Given the description of an element on the screen output the (x, y) to click on. 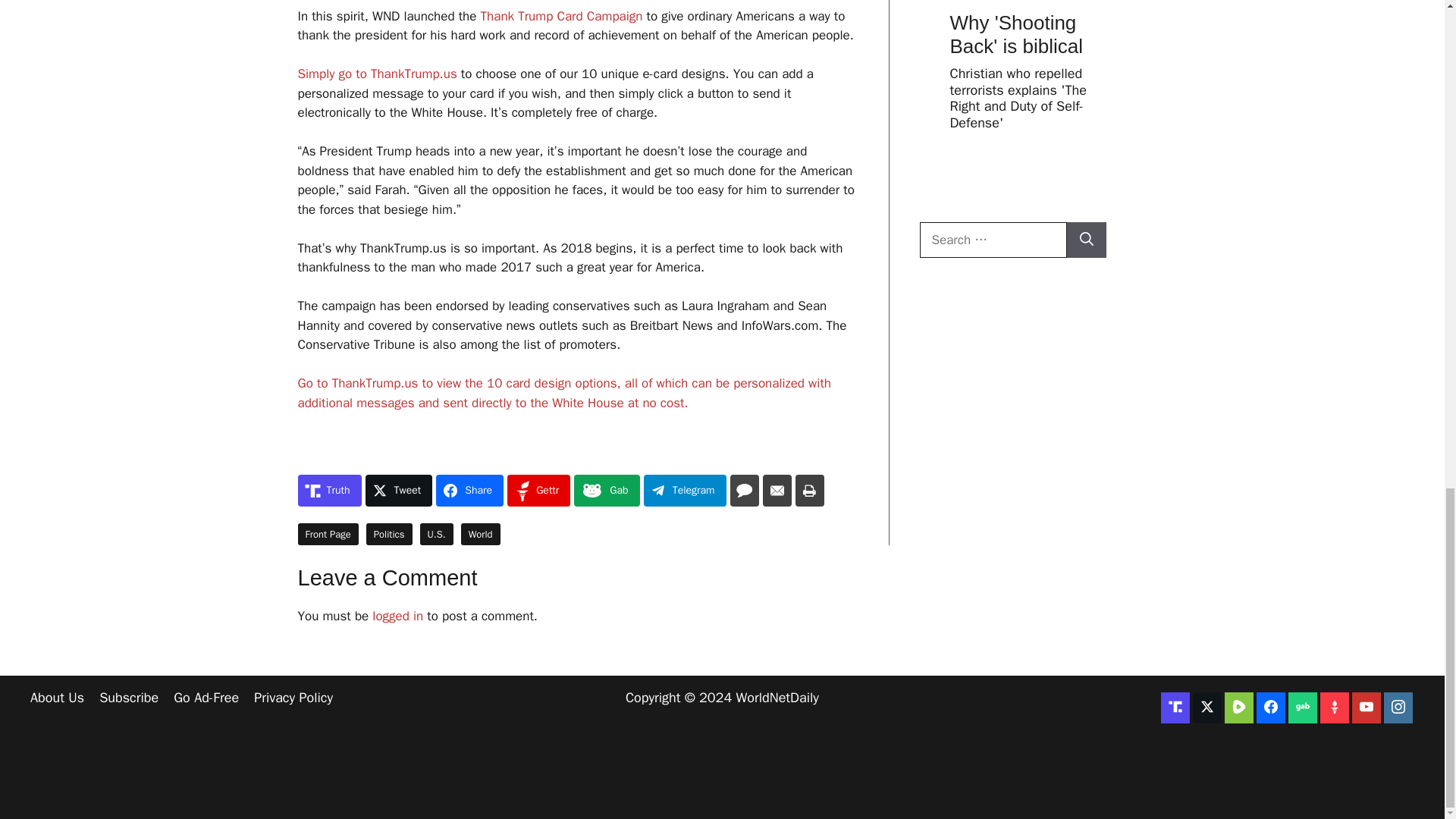
Share on Gettr (538, 490)
Share on Tweet (398, 490)
Share on Share (469, 490)
Share on Truth (329, 490)
